Given the description of an element on the screen output the (x, y) to click on. 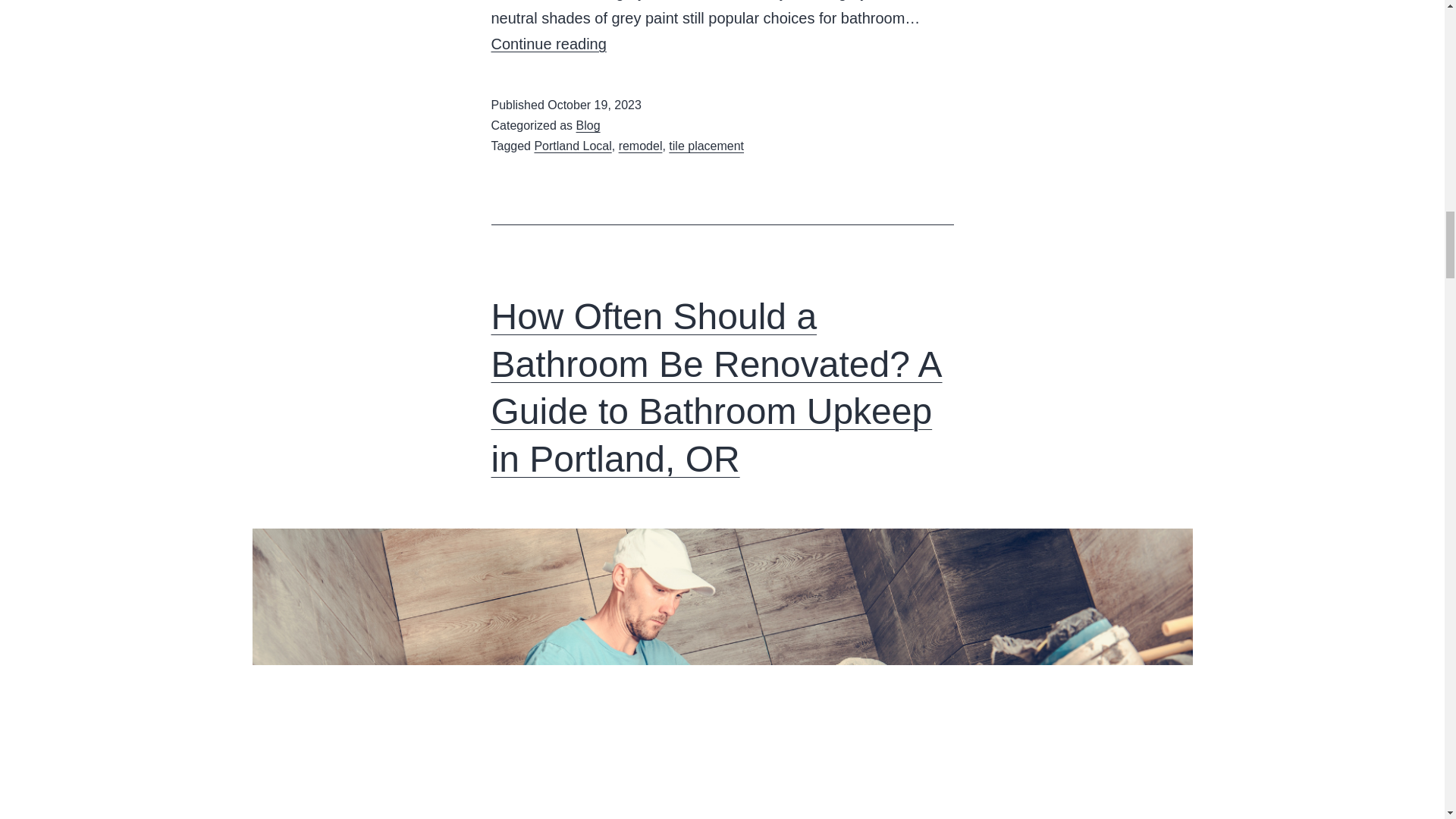
Blog (587, 124)
tile placement (706, 145)
Portland Local (572, 145)
remodel (640, 145)
